Given the description of an element on the screen output the (x, y) to click on. 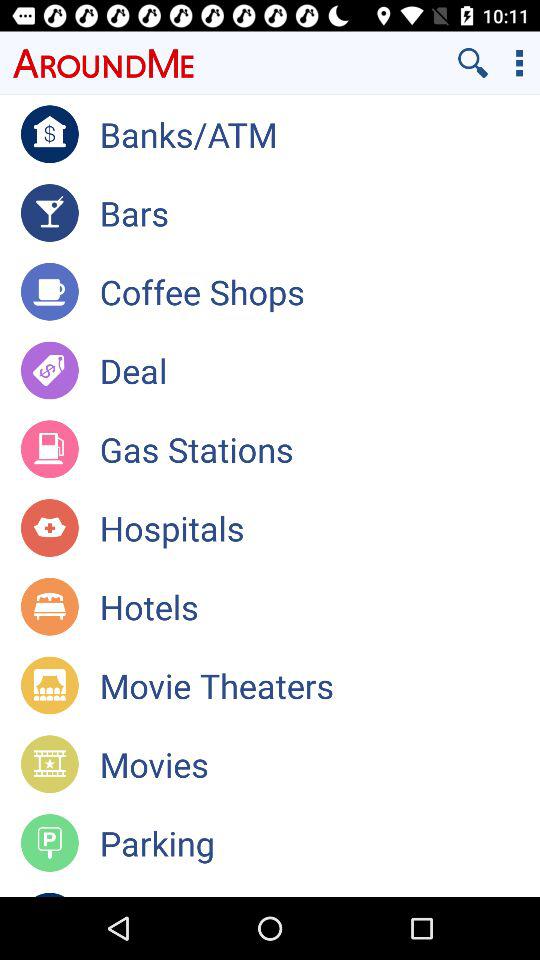
open the item above the hotels app (319, 527)
